Given the description of an element on the screen output the (x, y) to click on. 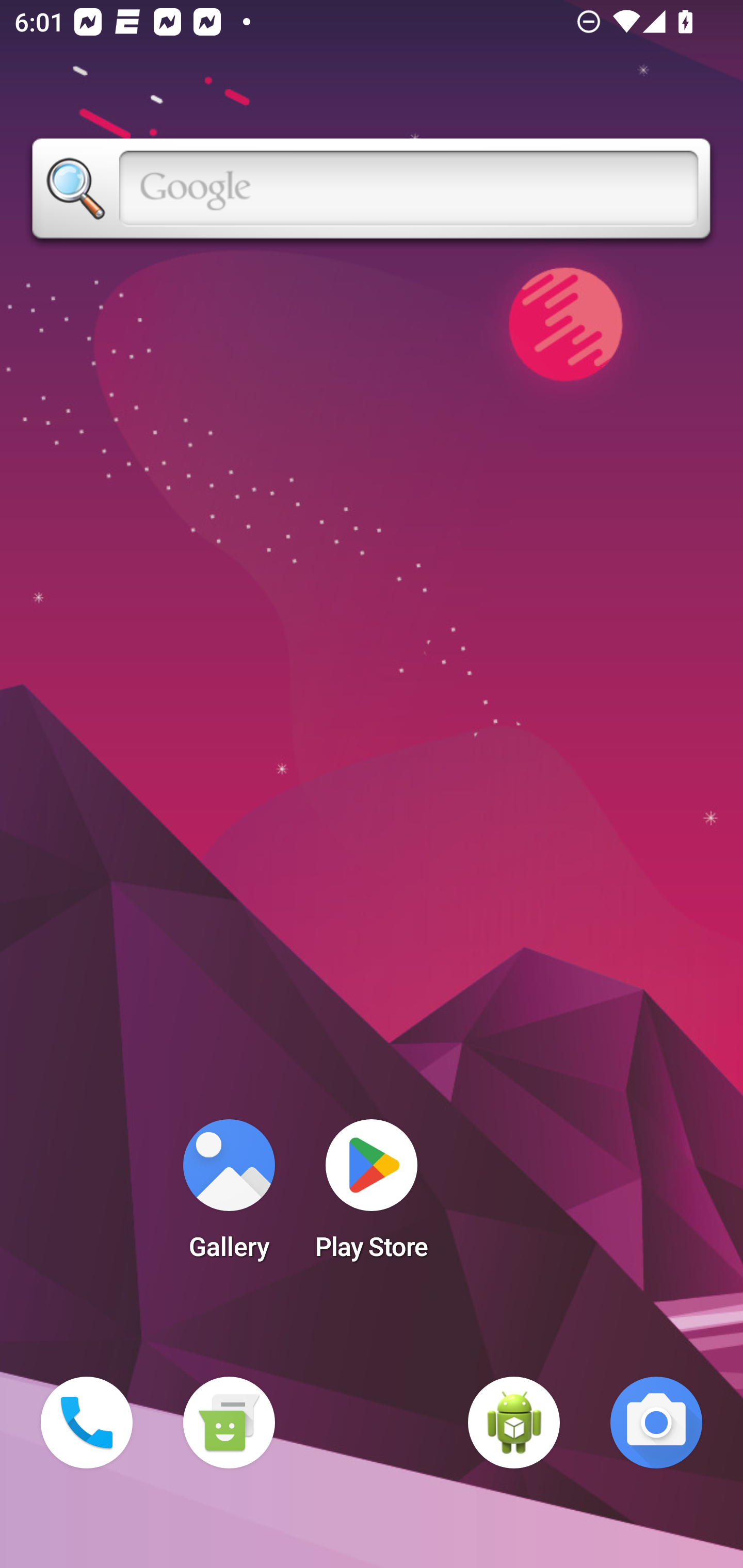
Gallery (228, 1195)
Play Store (371, 1195)
Phone (86, 1422)
Messaging (228, 1422)
WebView Browser Tester (513, 1422)
Camera (656, 1422)
